Given the description of an element on the screen output the (x, y) to click on. 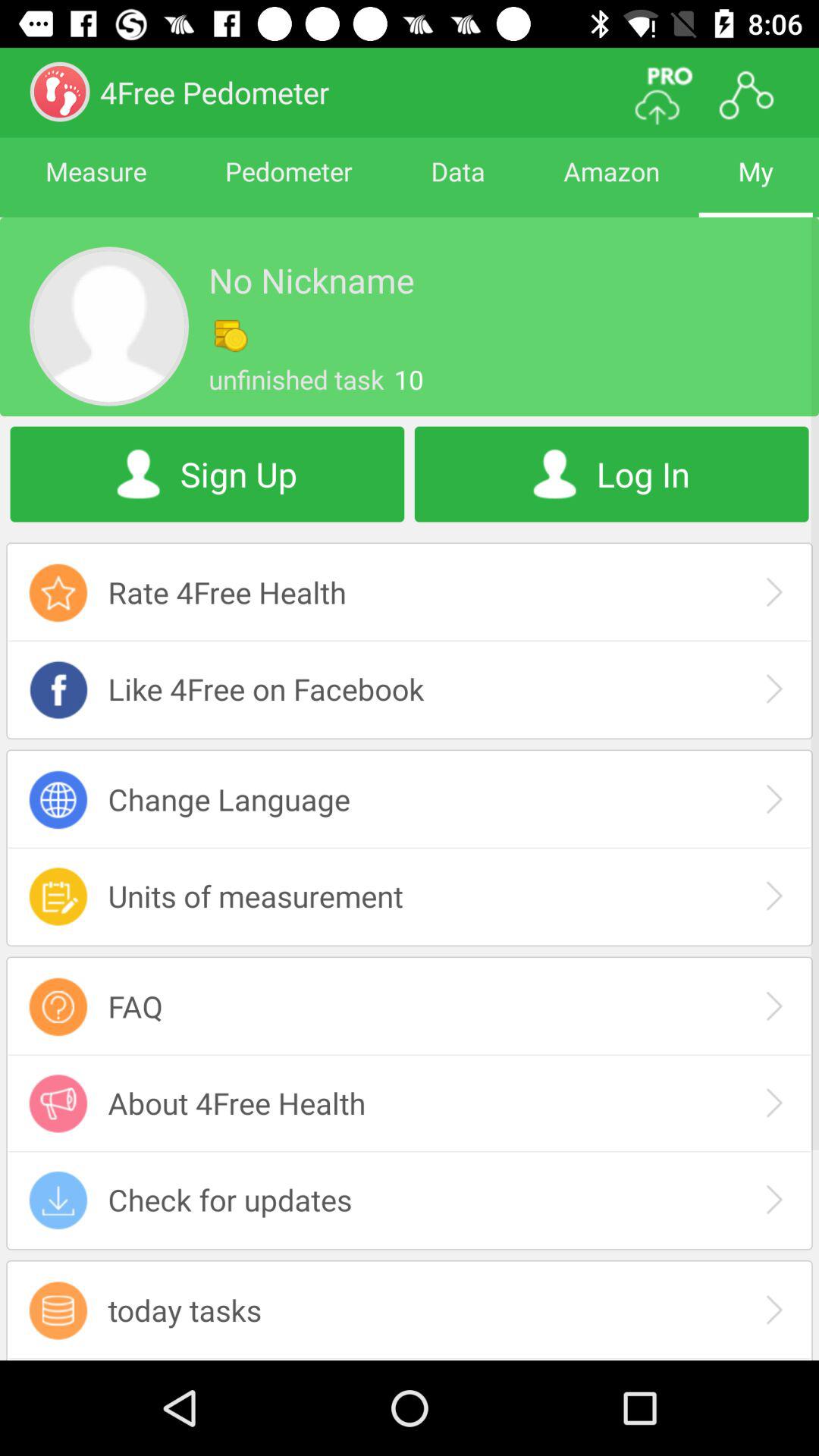
select icon to the left of my (611, 185)
